Given the description of an element on the screen output the (x, y) to click on. 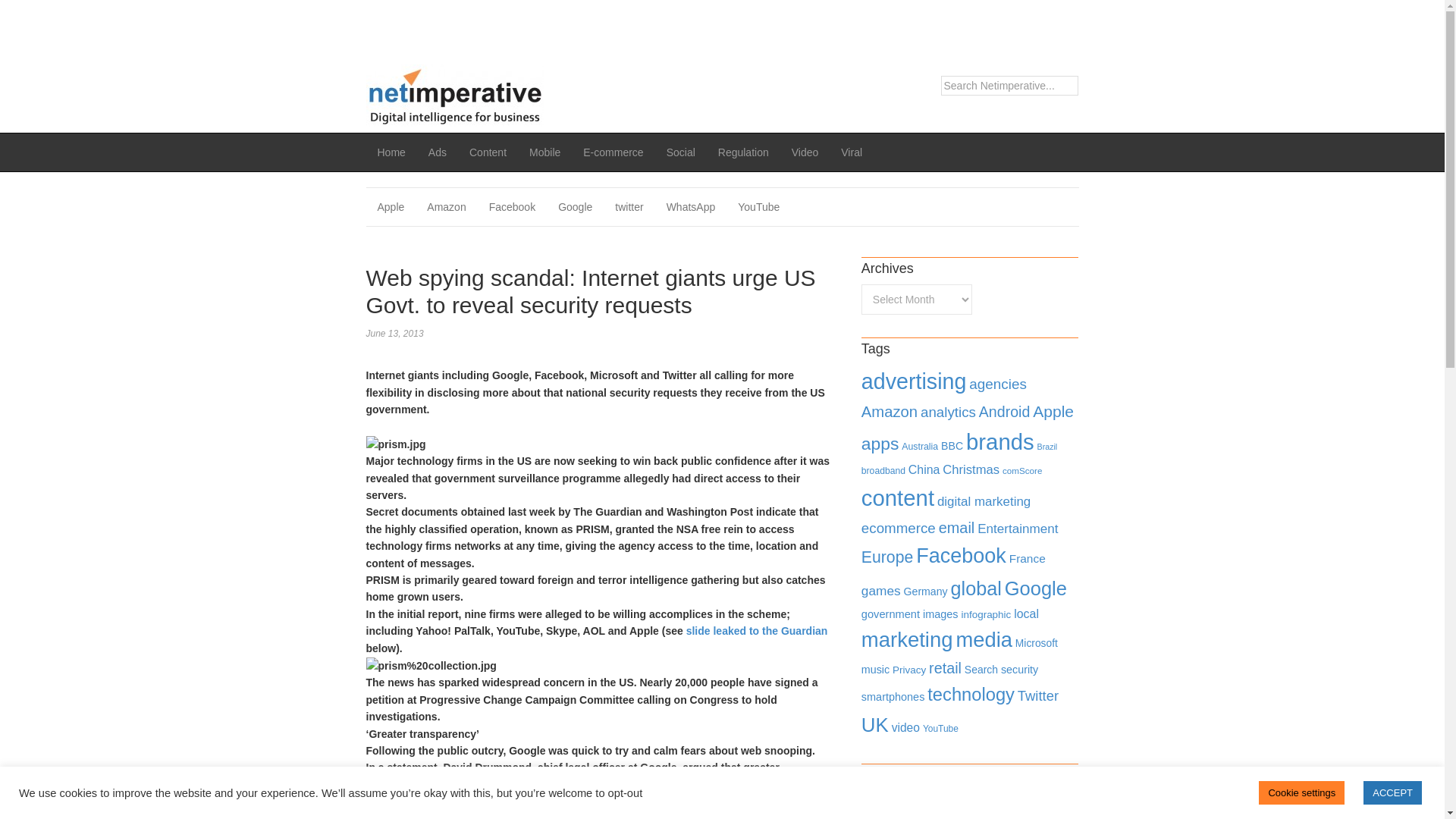
analytics (947, 412)
Google (575, 207)
Facebook (512, 207)
Mobile (545, 152)
Search for: (1009, 85)
advertising (913, 381)
Content (488, 152)
Amazon (445, 207)
Viral (851, 152)
Ads (437, 152)
Home (390, 152)
WhatsApp (690, 207)
Social (680, 152)
